Given the description of an element on the screen output the (x, y) to click on. 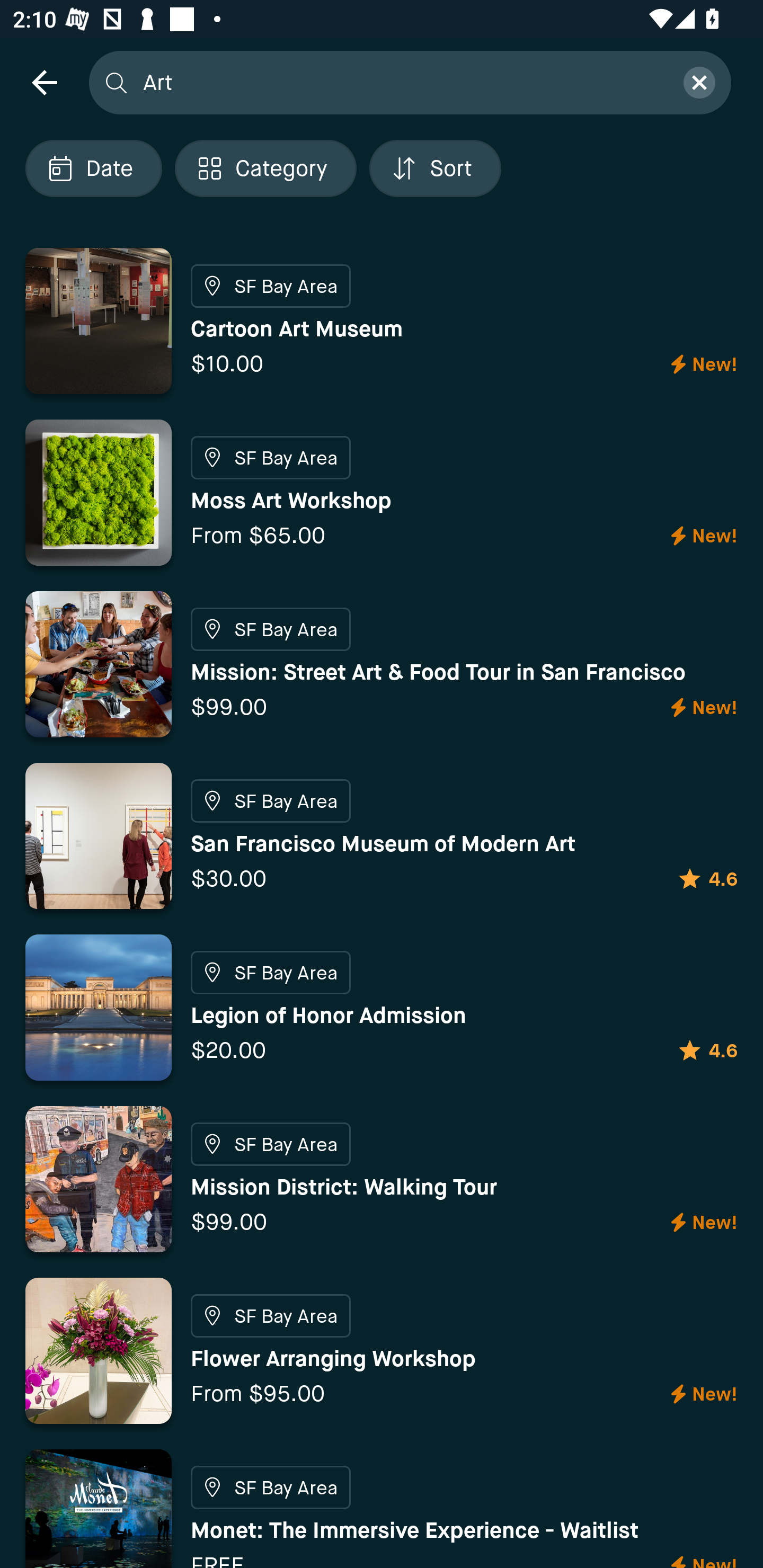
navigation icon (44, 81)
Art (402, 81)
Localized description Date (93, 168)
Localized description Category (265, 168)
Localized description Sort (435, 168)
